Given the description of an element on the screen output the (x, y) to click on. 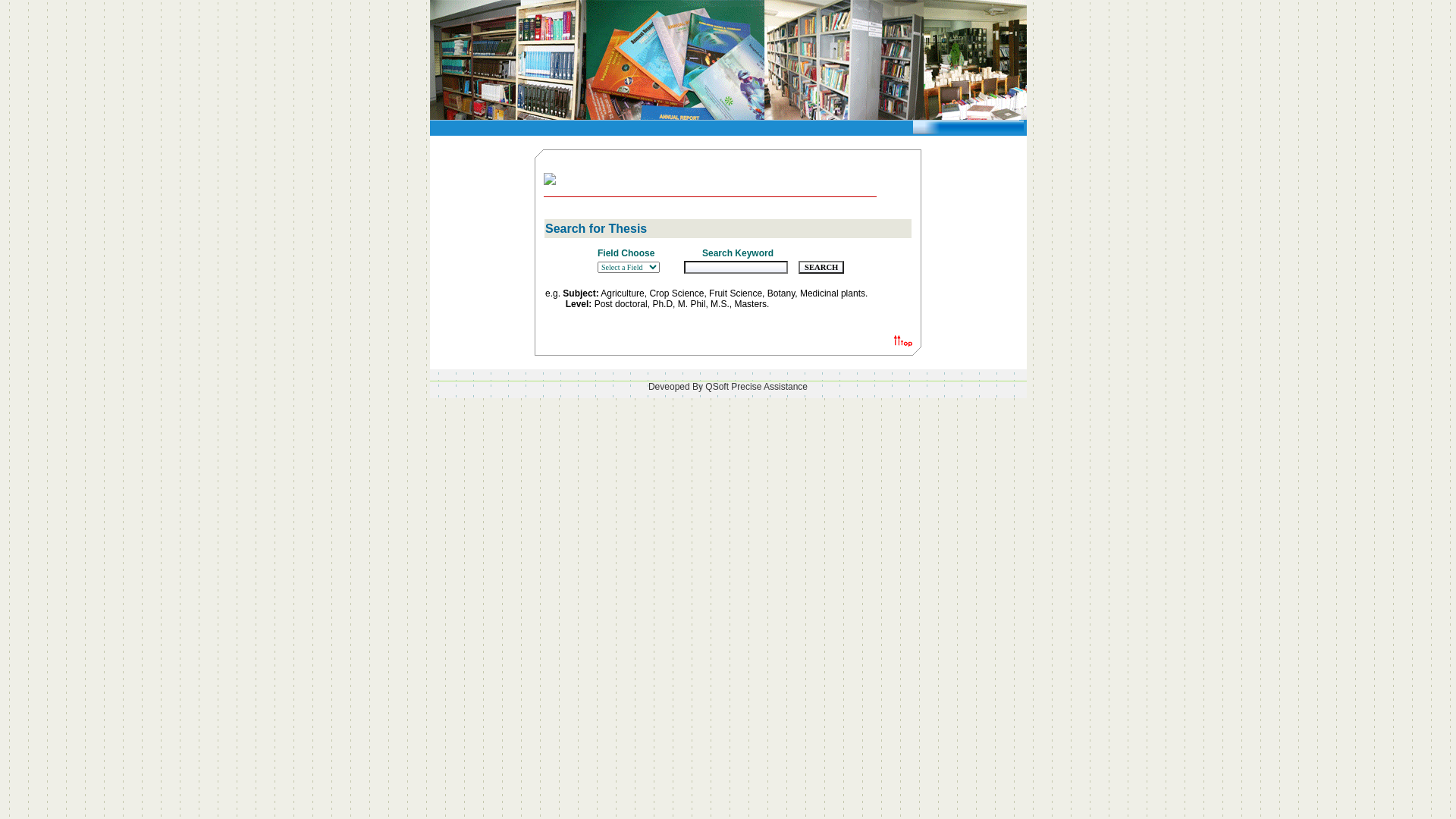
SEARCH Element type: text (821, 266)
